Given the description of an element on the screen output the (x, y) to click on. 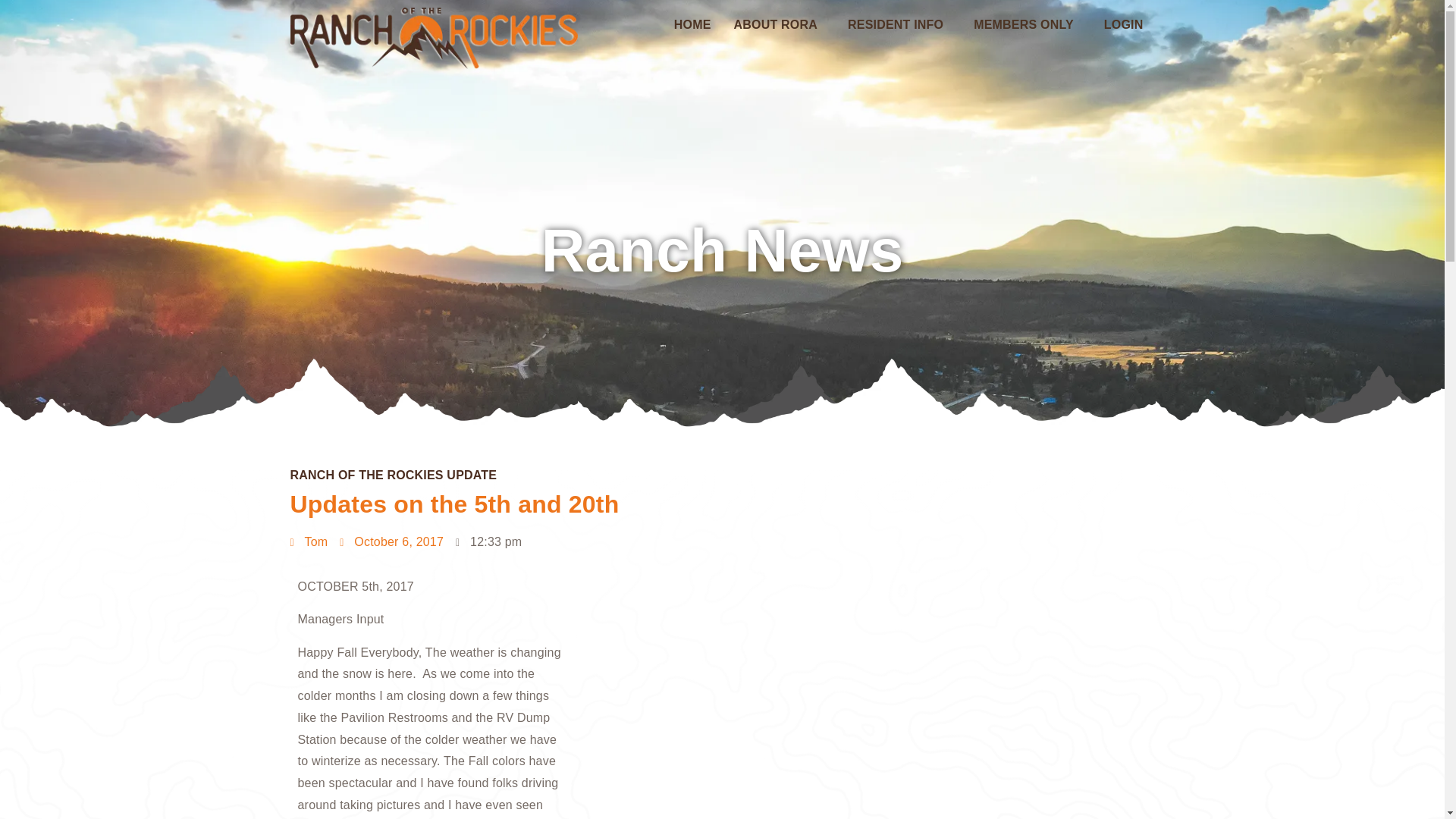
ABOUT RORA (778, 24)
RESIDENT INFO (898, 24)
HOME (692, 24)
MEMBERS ONLY (1027, 24)
October 6, 2017 (391, 542)
LOGIN (1123, 24)
Tom (308, 542)
